Given the description of an element on the screen output the (x, y) to click on. 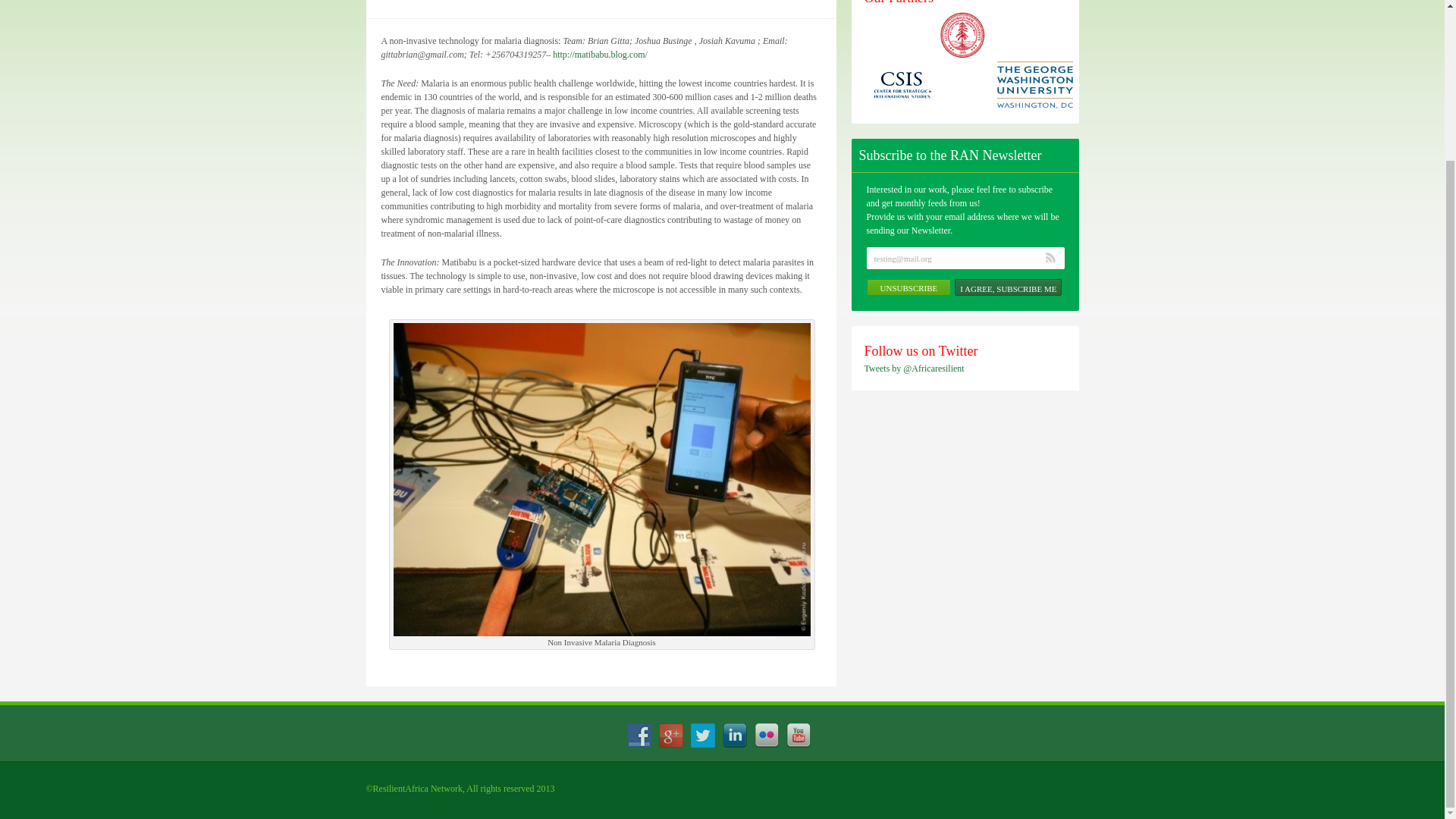
Follow us on Flickr (765, 735)
Follow us on Twitter (702, 735)
Follow us on Facebook (638, 735)
i agree, subscribe me (1008, 287)
Follow us on Youtube (797, 735)
Follow us on Linked (733, 735)
unsubscribe (908, 287)
